Given the description of an element on the screen output the (x, y) to click on. 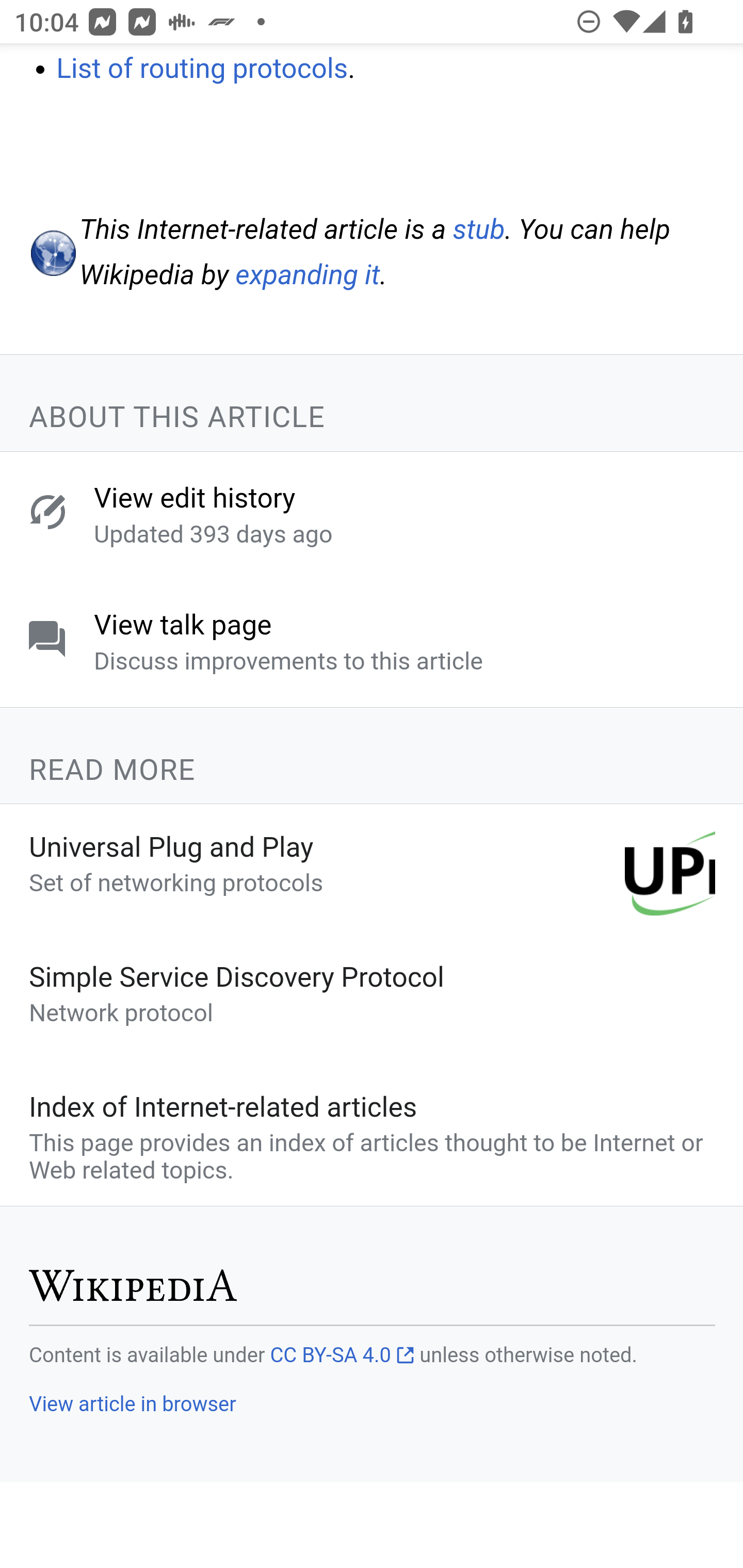
List of routing protocols (201, 68)
stub (478, 230)
Stub icon (51, 253)
expanding it (307, 275)
CC BY-SA 4.0 (341, 1355)
View article in browser (132, 1404)
